Given the description of an element on the screen output the (x, y) to click on. 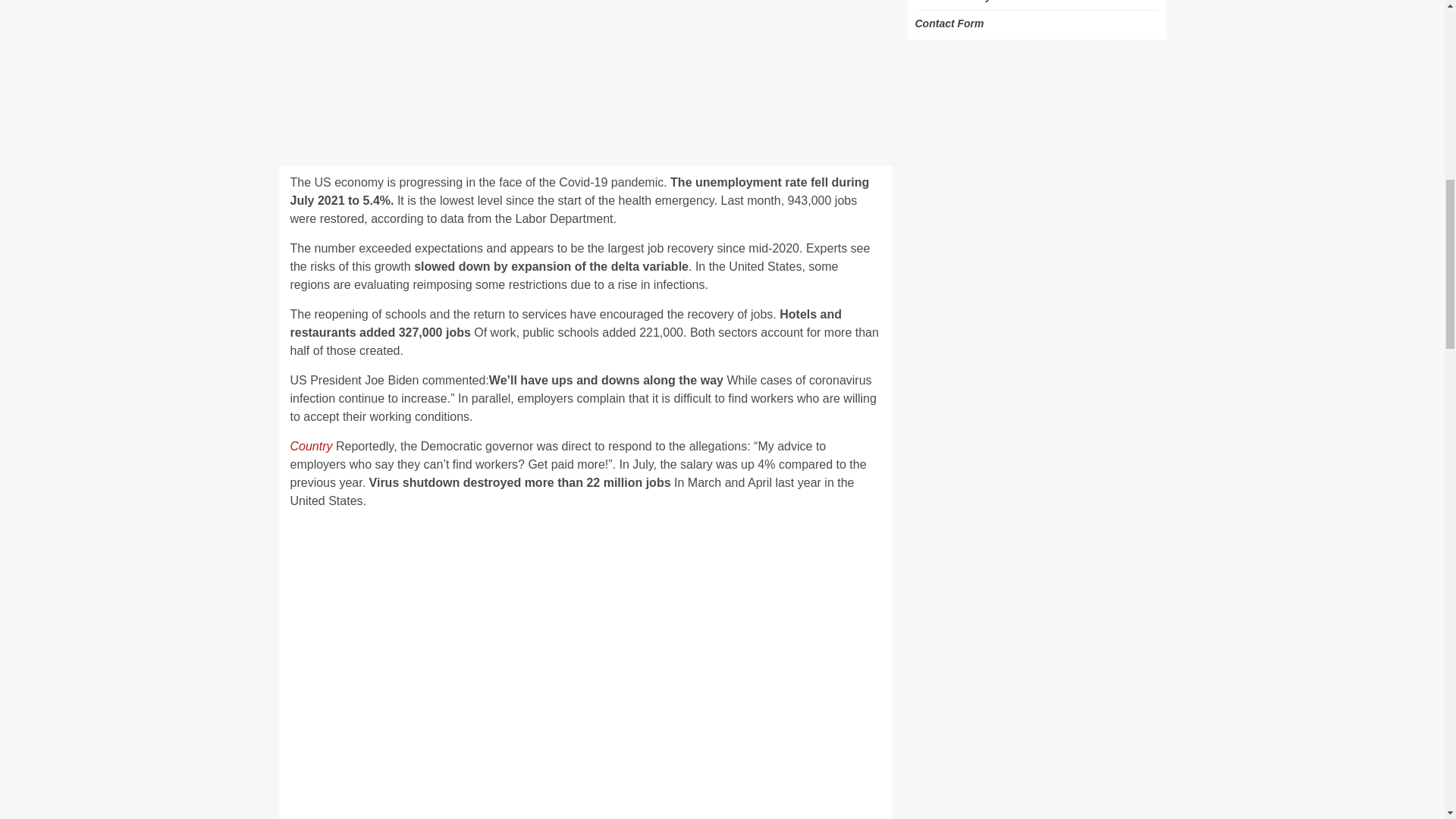
Country (310, 445)
